Given the description of an element on the screen output the (x, y) to click on. 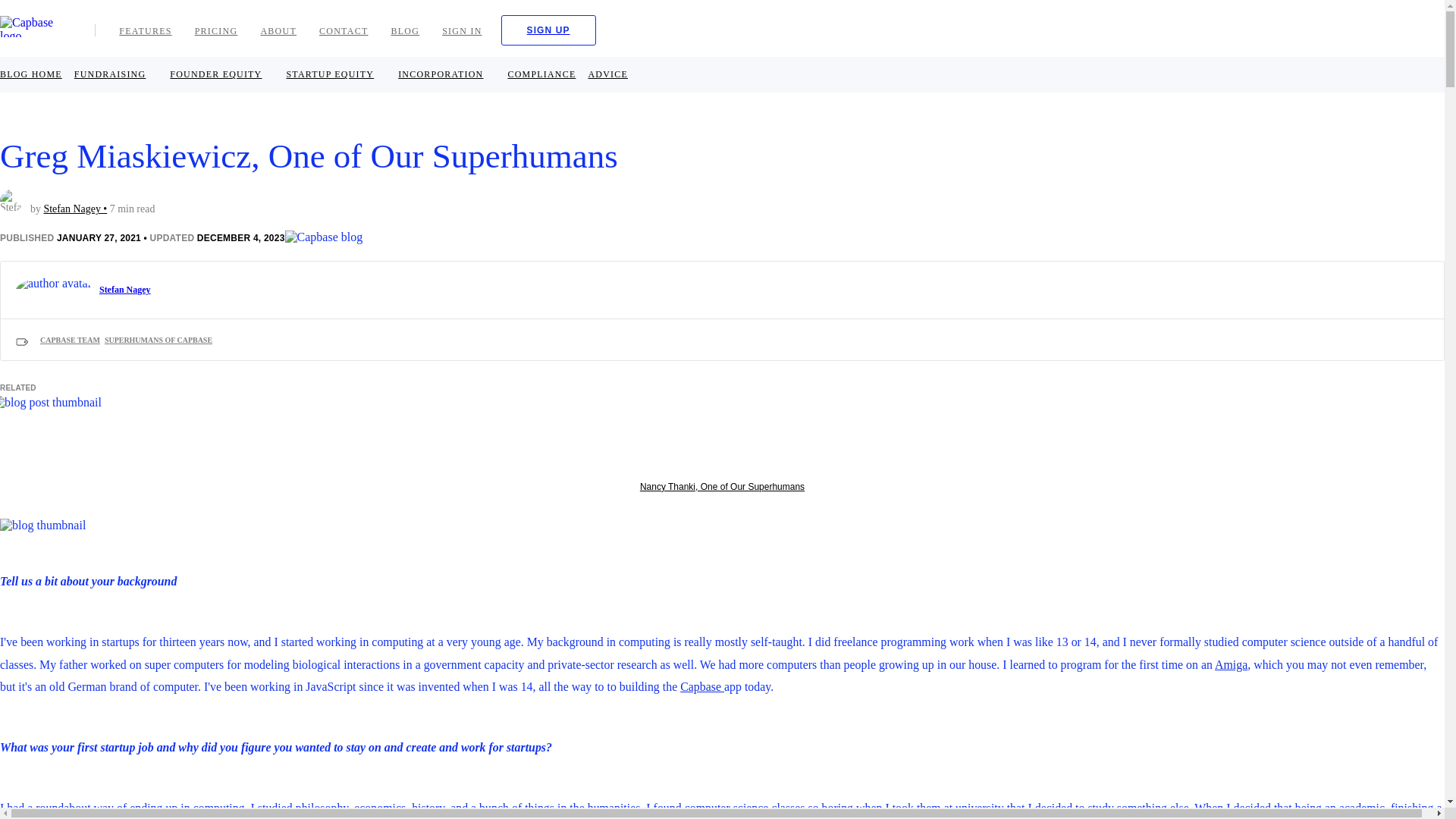
ADVICE (607, 74)
BLOG (404, 30)
CONTACT (342, 30)
SIGN IN (461, 30)
INCORPORATION (440, 74)
STARTUP EQUITY (331, 74)
SIGN UP (547, 30)
PRICING (215, 30)
BLOG HOME (31, 74)
SIGN UP (547, 30)
